Given the description of an element on the screen output the (x, y) to click on. 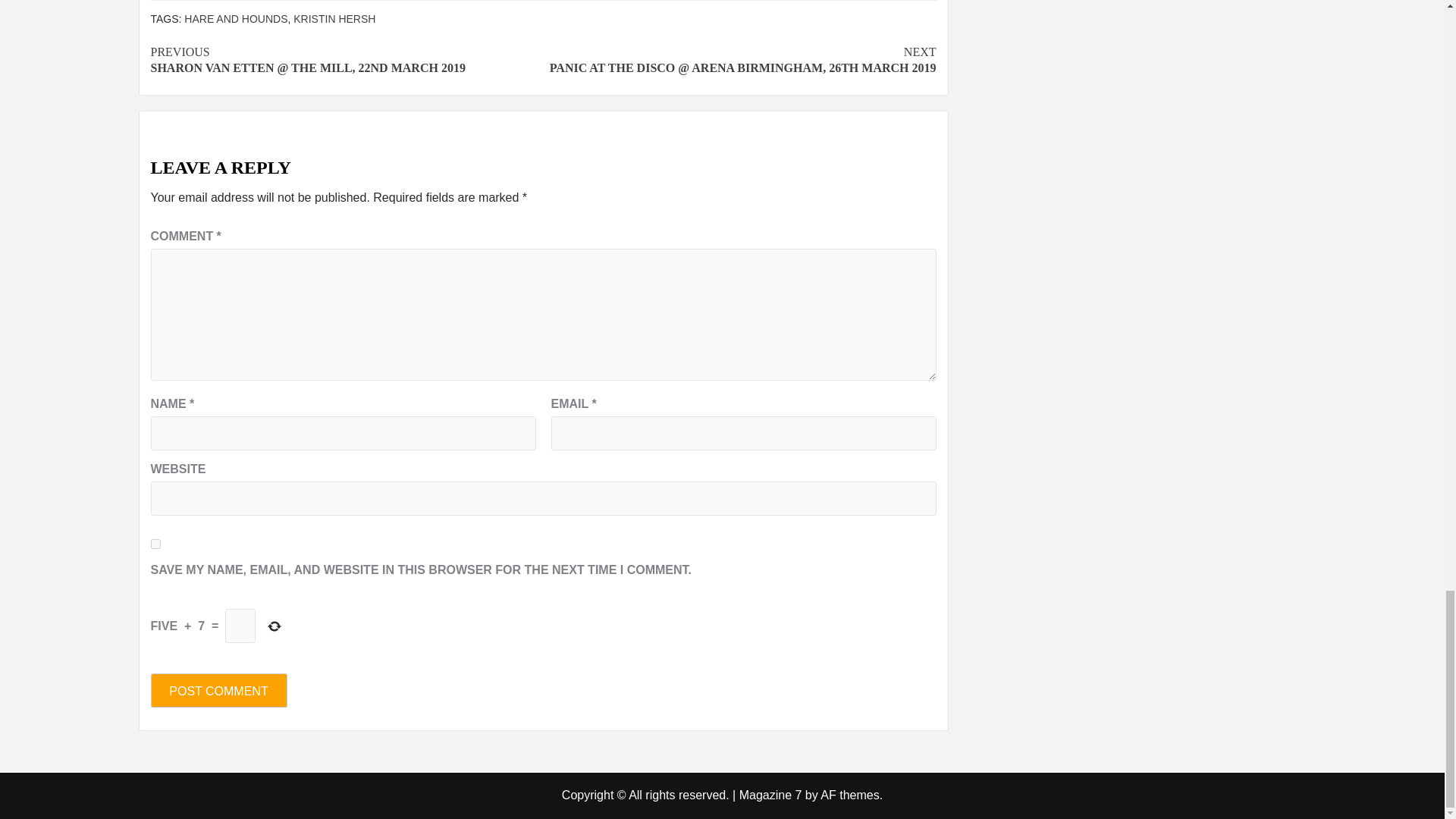
KRISTIN HERSH (334, 19)
Post Comment (217, 690)
HARE AND HOUNDS (235, 19)
Post Comment (217, 690)
